Given the description of an element on the screen output the (x, y) to click on. 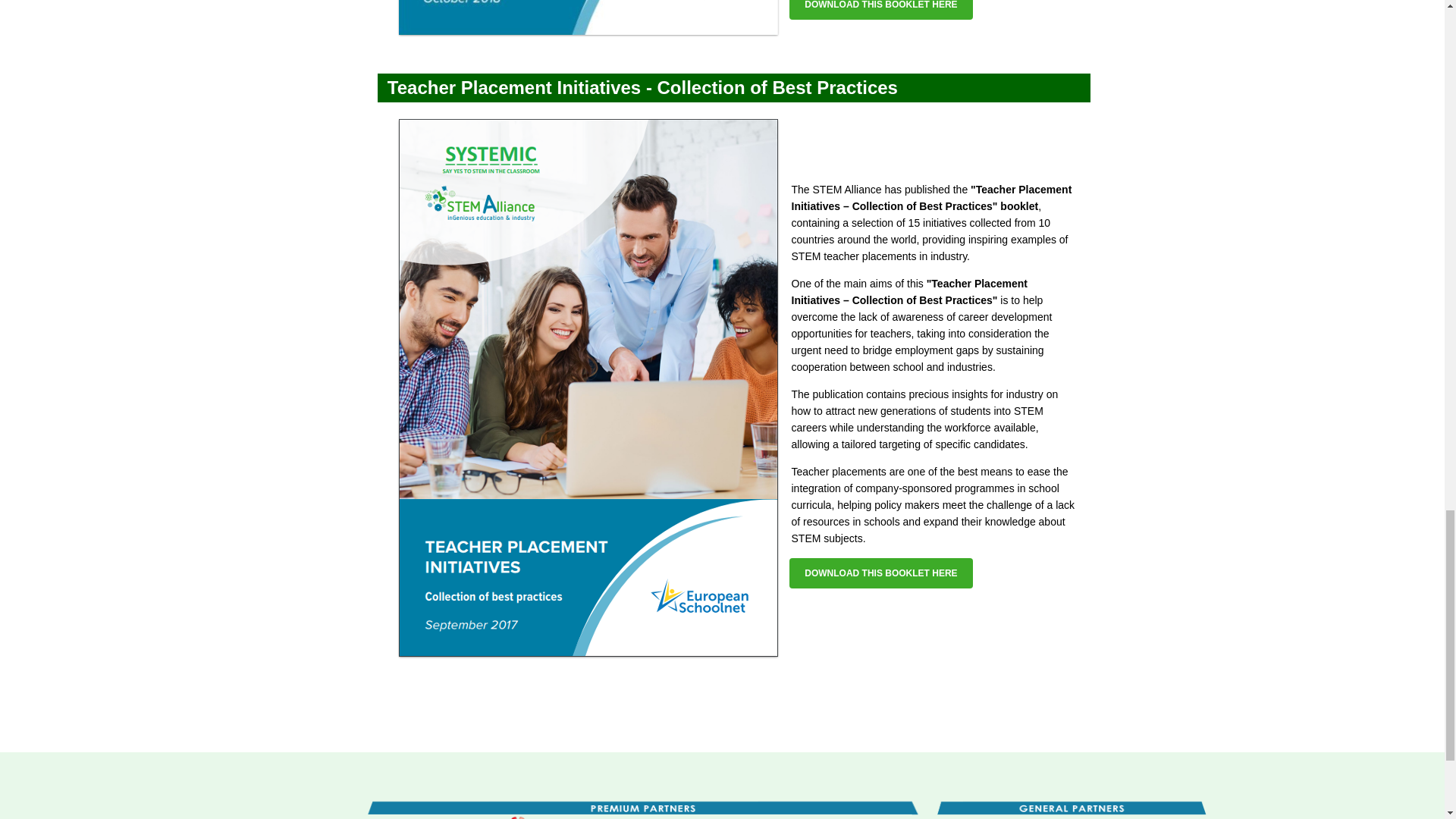
DOWNLOAD THIS BOOKLET HERE (880, 9)
DOWNLOAD THIS BOOKLET HERE (880, 572)
